Given the description of an element on the screen output the (x, y) to click on. 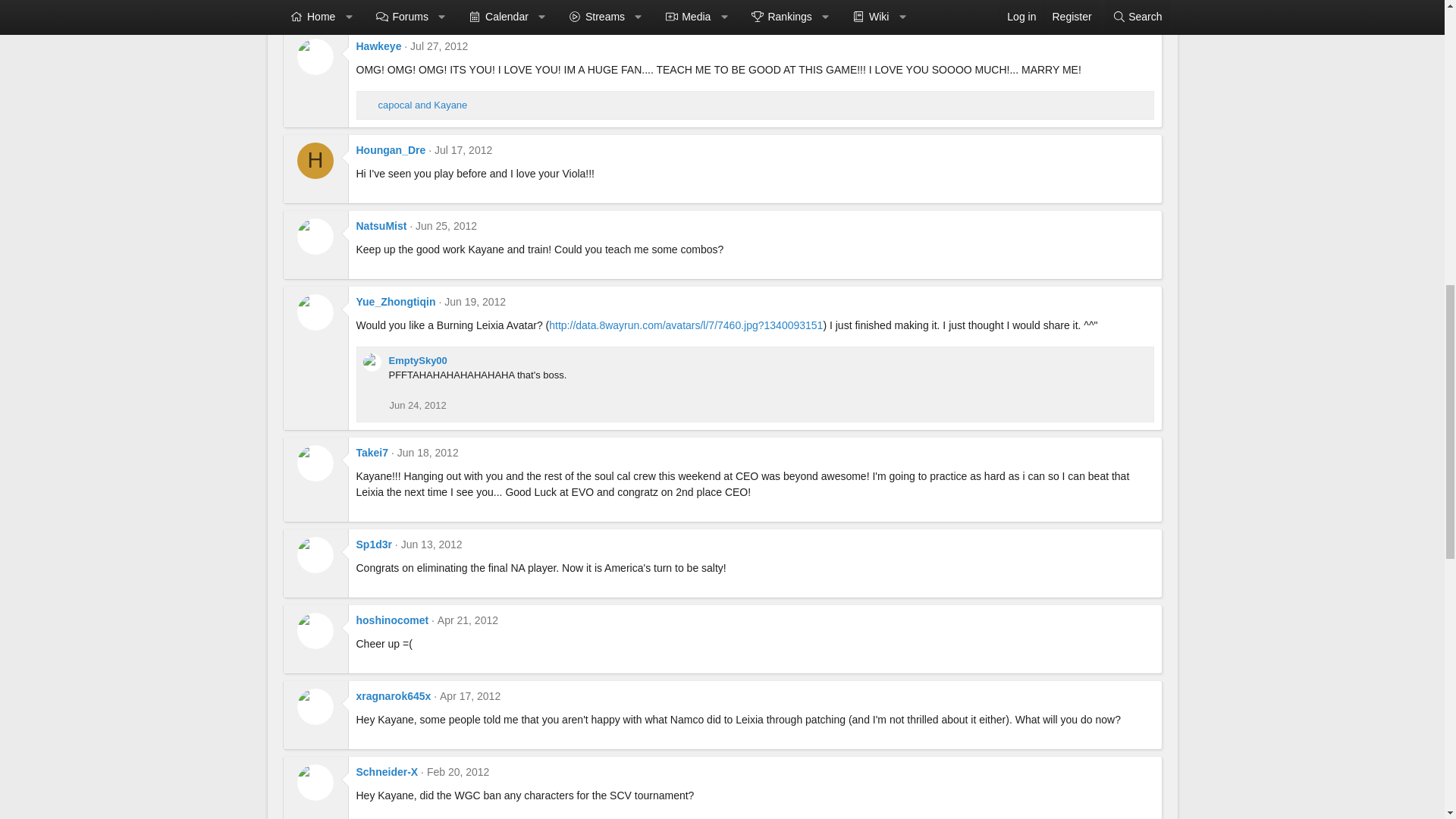
Jun 24, 2012 at 11:10 PM (418, 405)
Jul 17, 2012 at 12:10 PM (462, 150)
Jun 19, 2012 at 4:43 AM (474, 301)
Like (368, 105)
Jun 25, 2012 at 3:25 PM (445, 225)
Jun 18, 2012 at 8:26 AM (427, 452)
Jul 27, 2012 at 12:51 PM (438, 46)
